Given the description of an element on the screen output the (x, y) to click on. 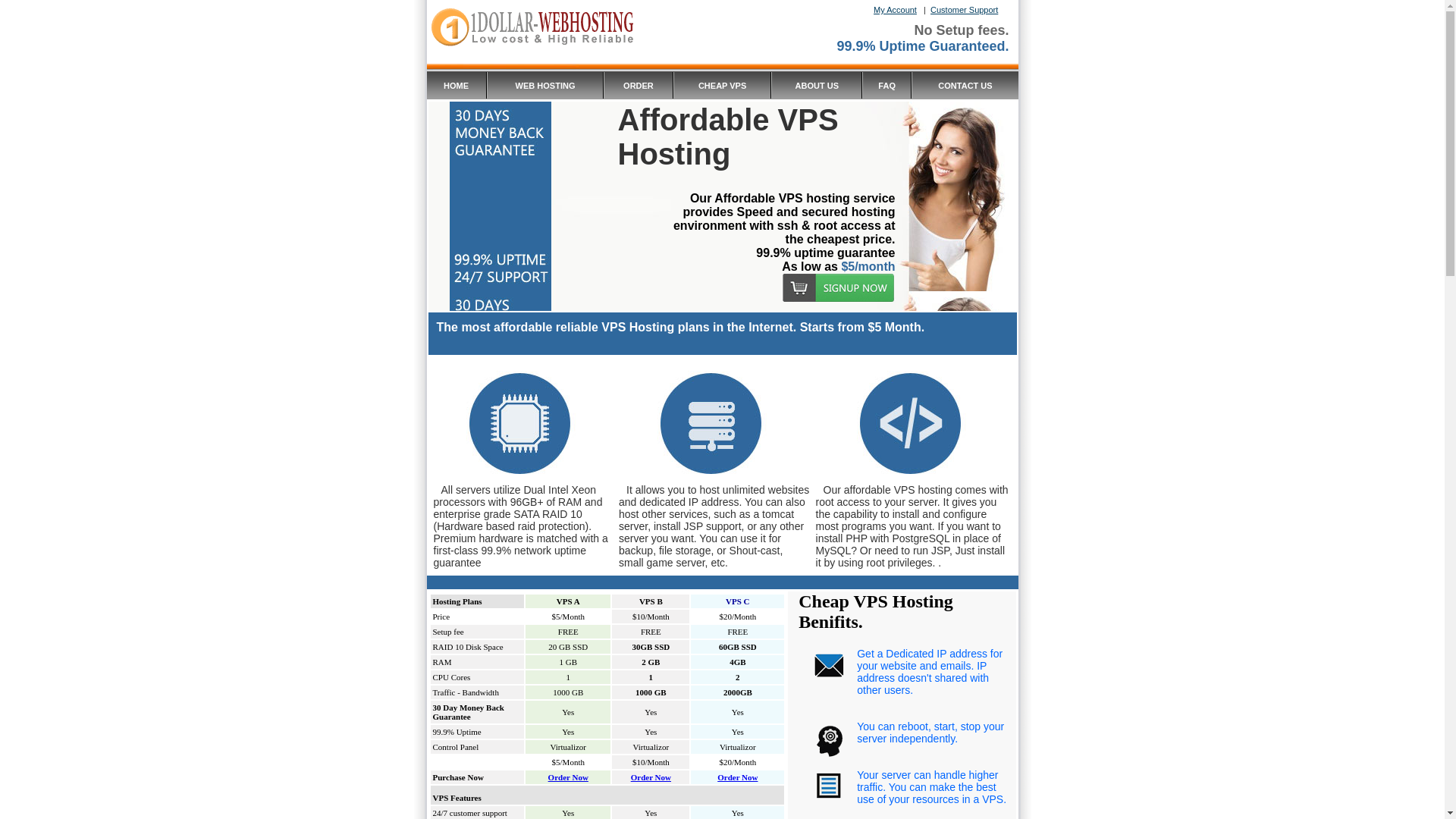
Customer Support Element type: text (963, 9)
FAQ Element type: text (886, 84)
My Account Element type: text (894, 9)
CONTACT US Element type: text (964, 84)
Order Now Element type: text (737, 776)
CHEAP VPS Element type: text (722, 84)
ABOUT US Element type: text (816, 84)
ORDER Element type: text (638, 84)
Order Now Element type: text (650, 776)
HOME Element type: text (455, 84)
WEB HOSTING Element type: text (545, 84)
Order Now Element type: text (568, 776)
